Given the description of an element on the screen output the (x, y) to click on. 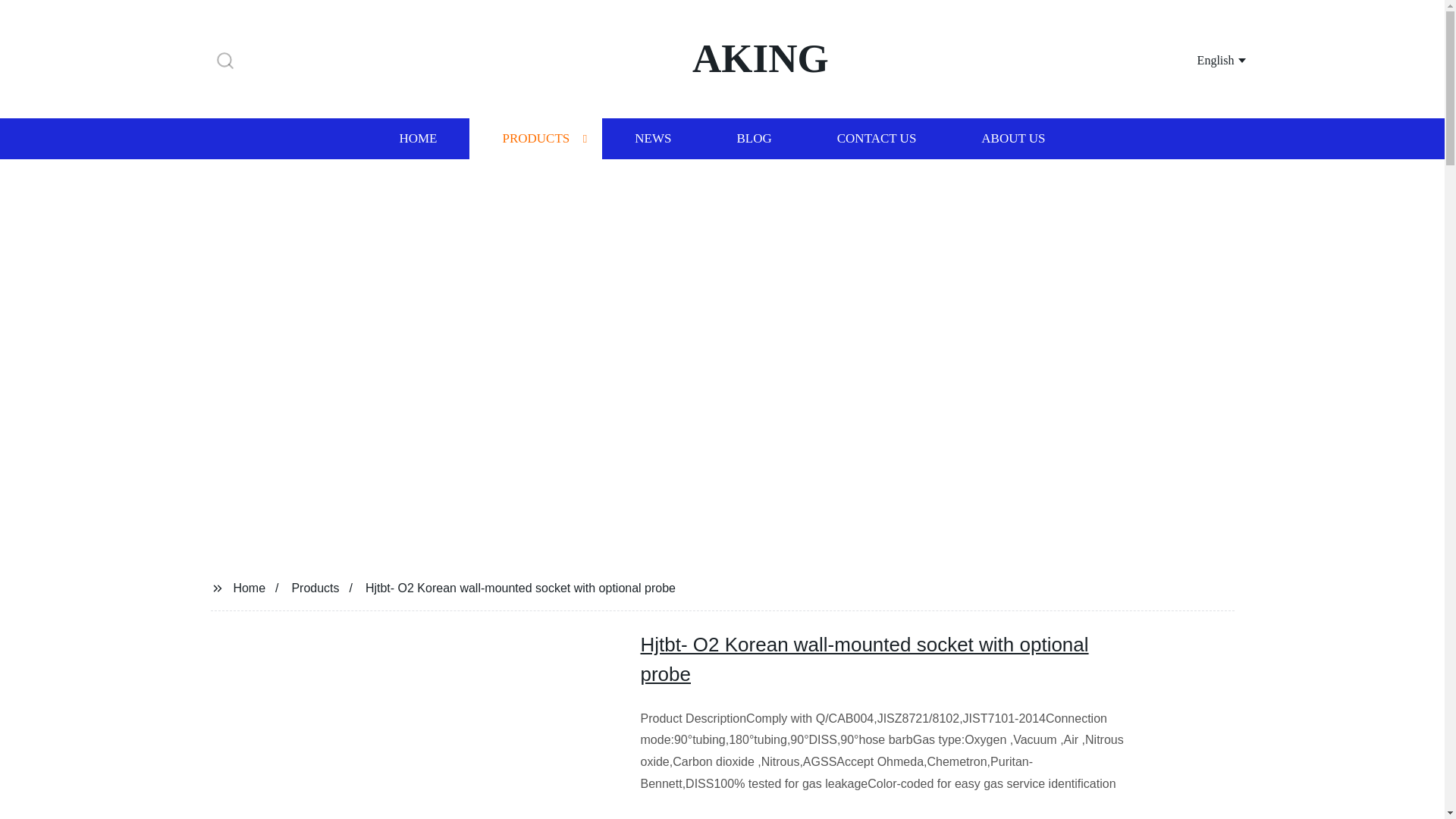
NEWS (652, 137)
Home (248, 586)
CONTACT US (877, 137)
HOME (417, 137)
English (1203, 59)
English (1203, 59)
BLOG (753, 137)
ABOUT US (1013, 137)
PRODUCTS (535, 137)
Products (315, 586)
